Given the description of an element on the screen output the (x, y) to click on. 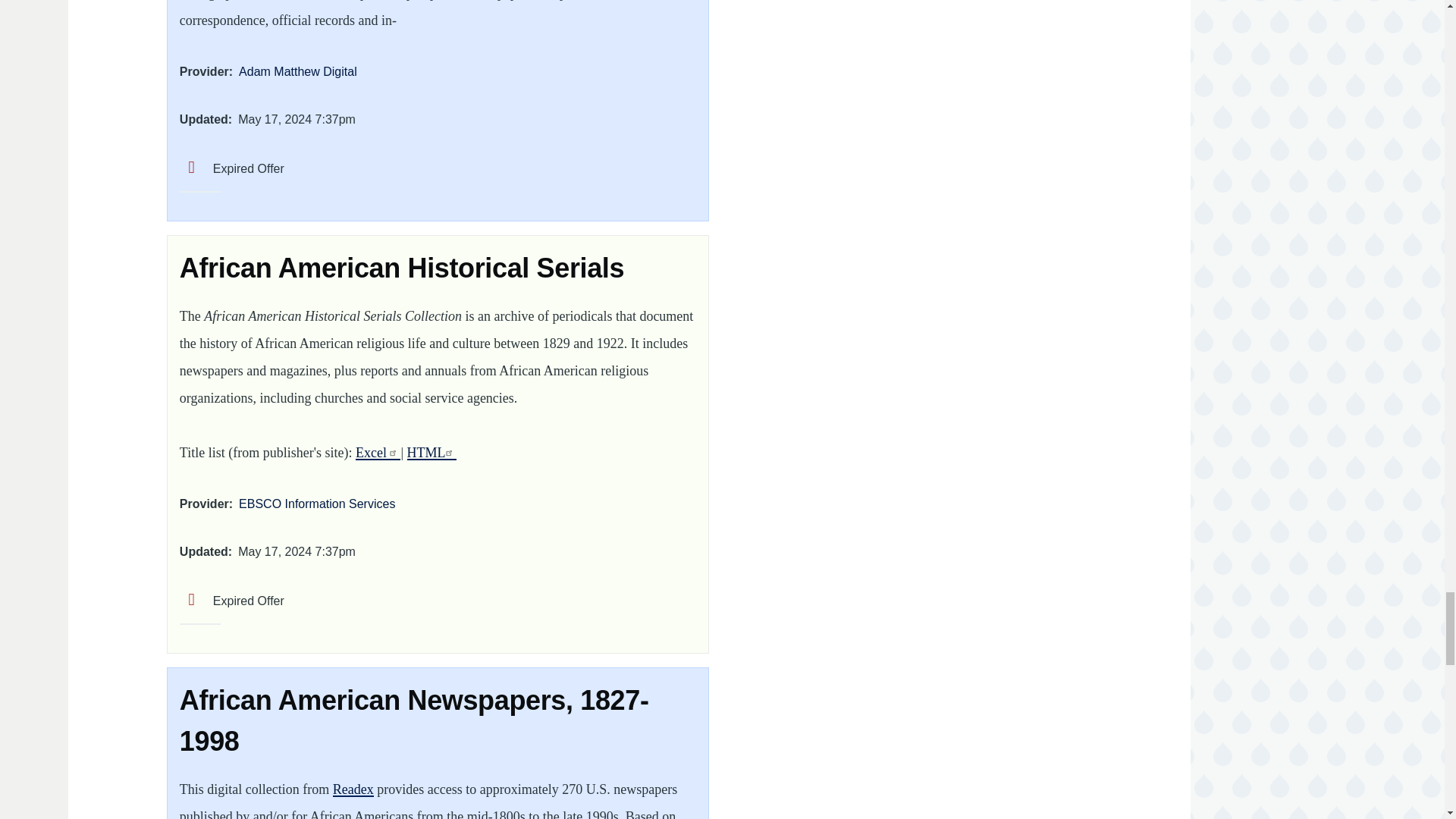
Expired Offer (231, 600)
Expired Offer (231, 168)
